Given the description of an element on the screen output the (x, y) to click on. 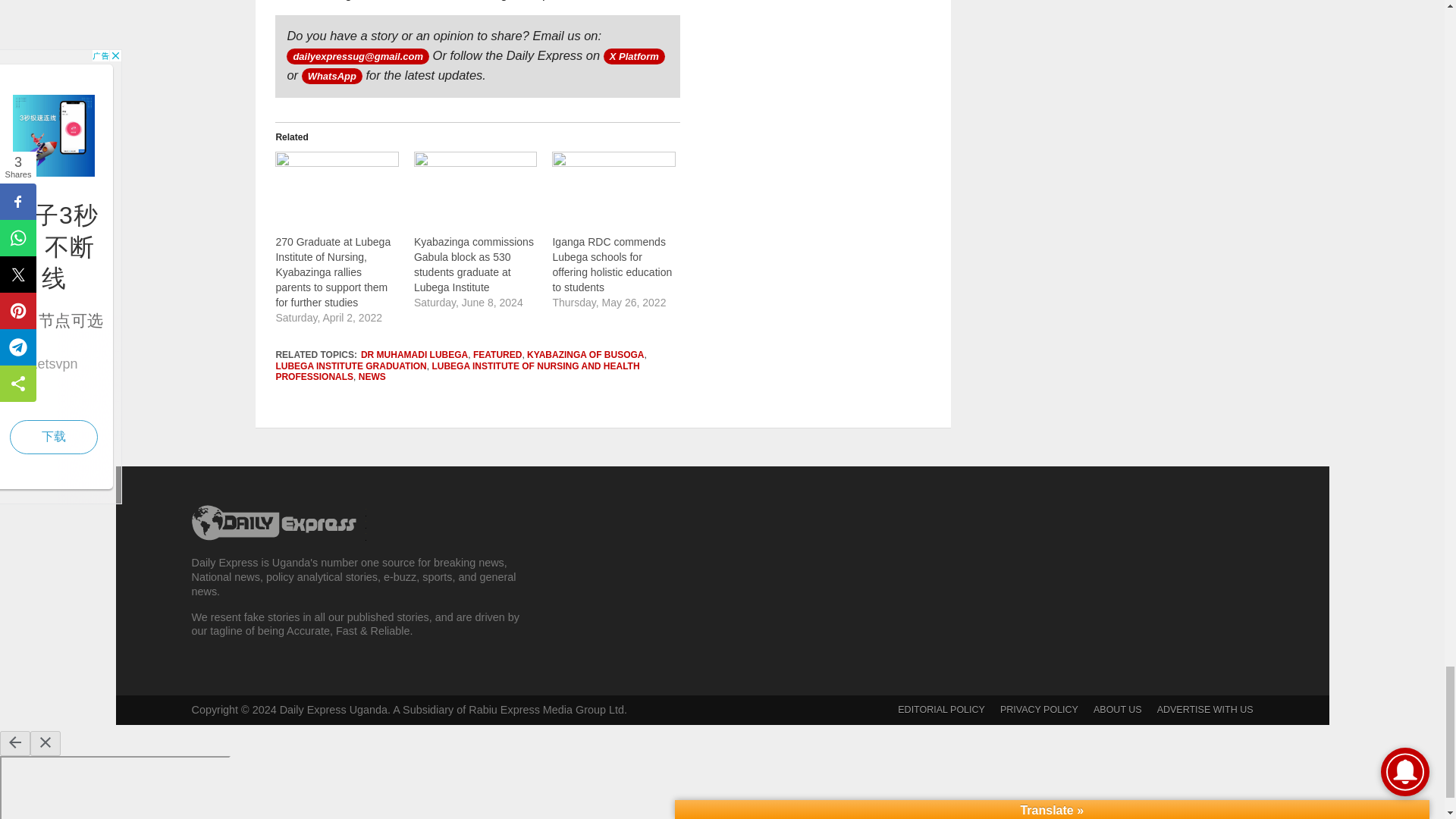
X Platform (634, 56)
WhatsApp (331, 75)
